Given the description of an element on the screen output the (x, y) to click on. 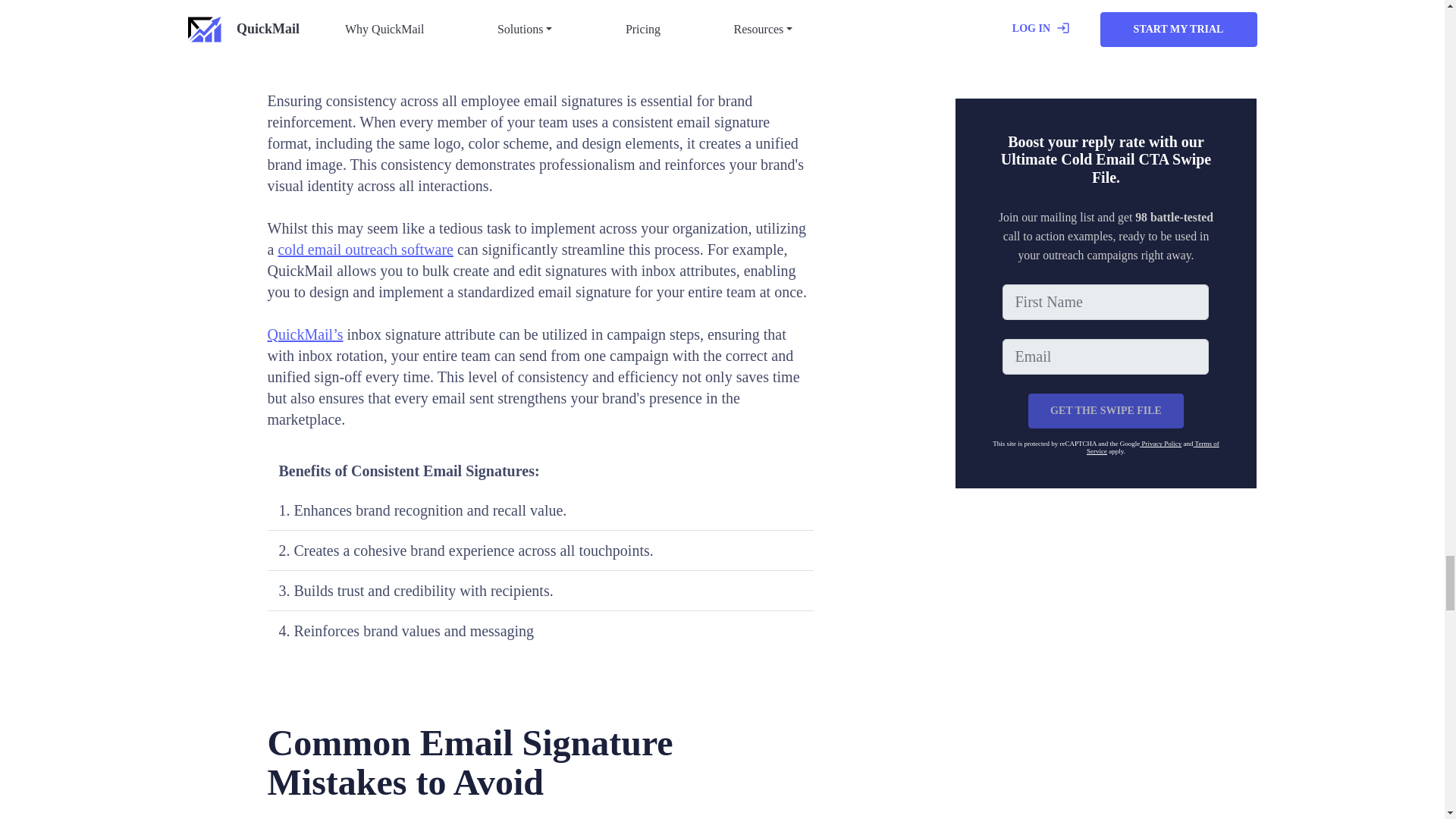
cold email outreach software (365, 248)
